Given the description of an element on the screen output the (x, y) to click on. 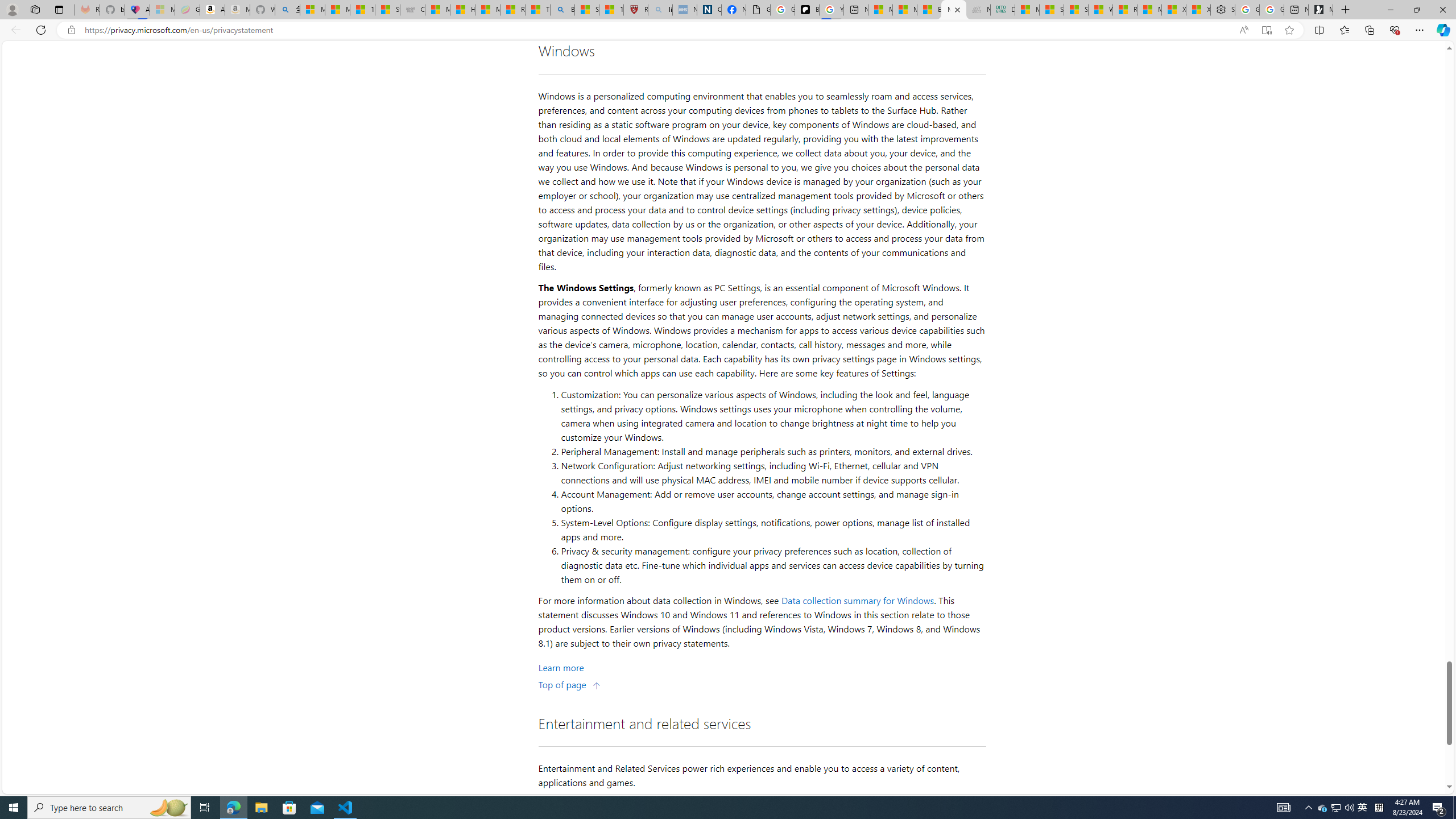
Learn More about Windows (560, 667)
